Given the description of an element on the screen output the (x, y) to click on. 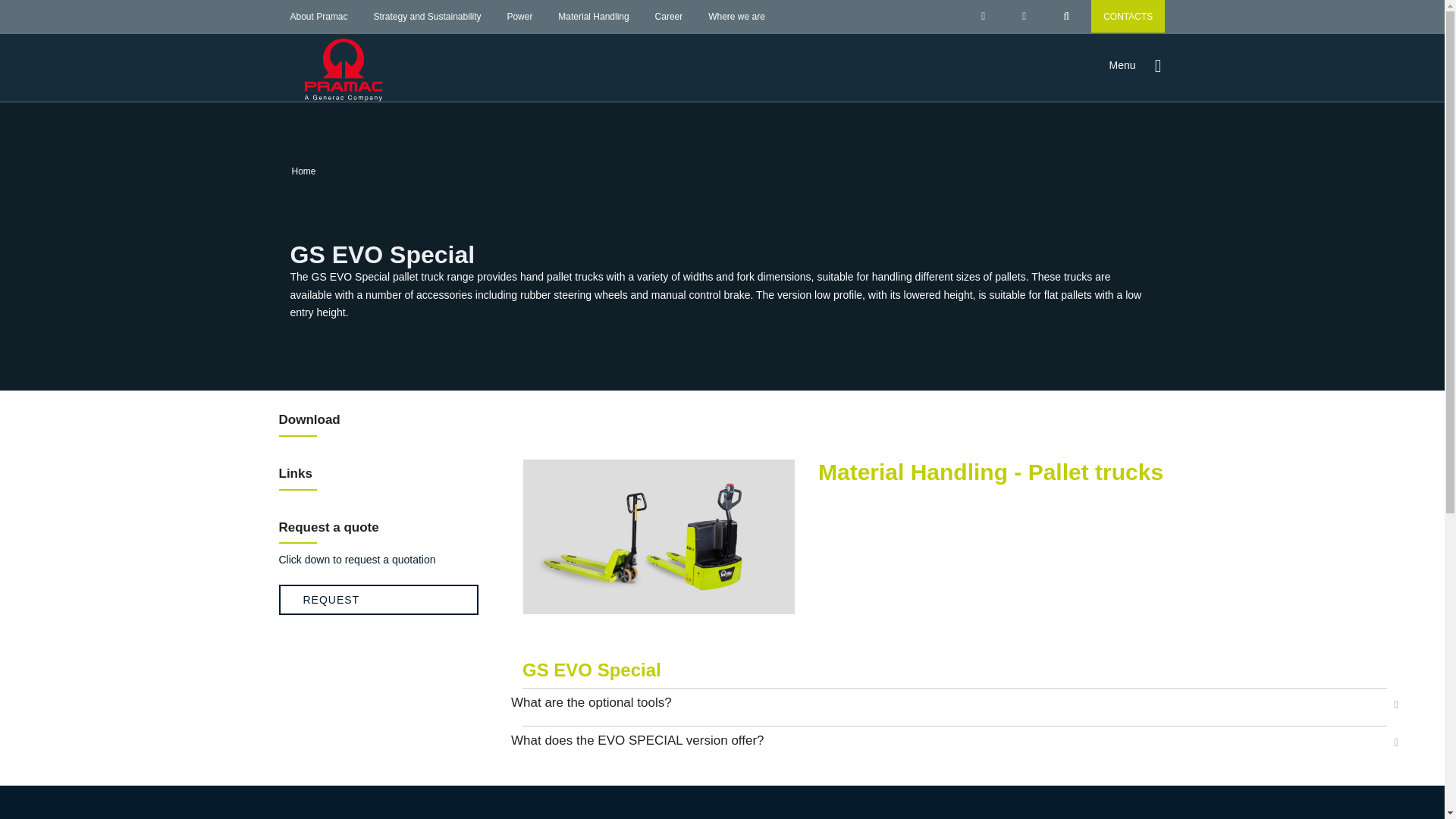
Strategy and Sustainability (426, 16)
CONTACTS (1128, 16)
Career (668, 16)
Power (519, 16)
About Pramac (318, 16)
Where we are (736, 16)
Material Handling (592, 16)
